Given the description of an element on the screen output the (x, y) to click on. 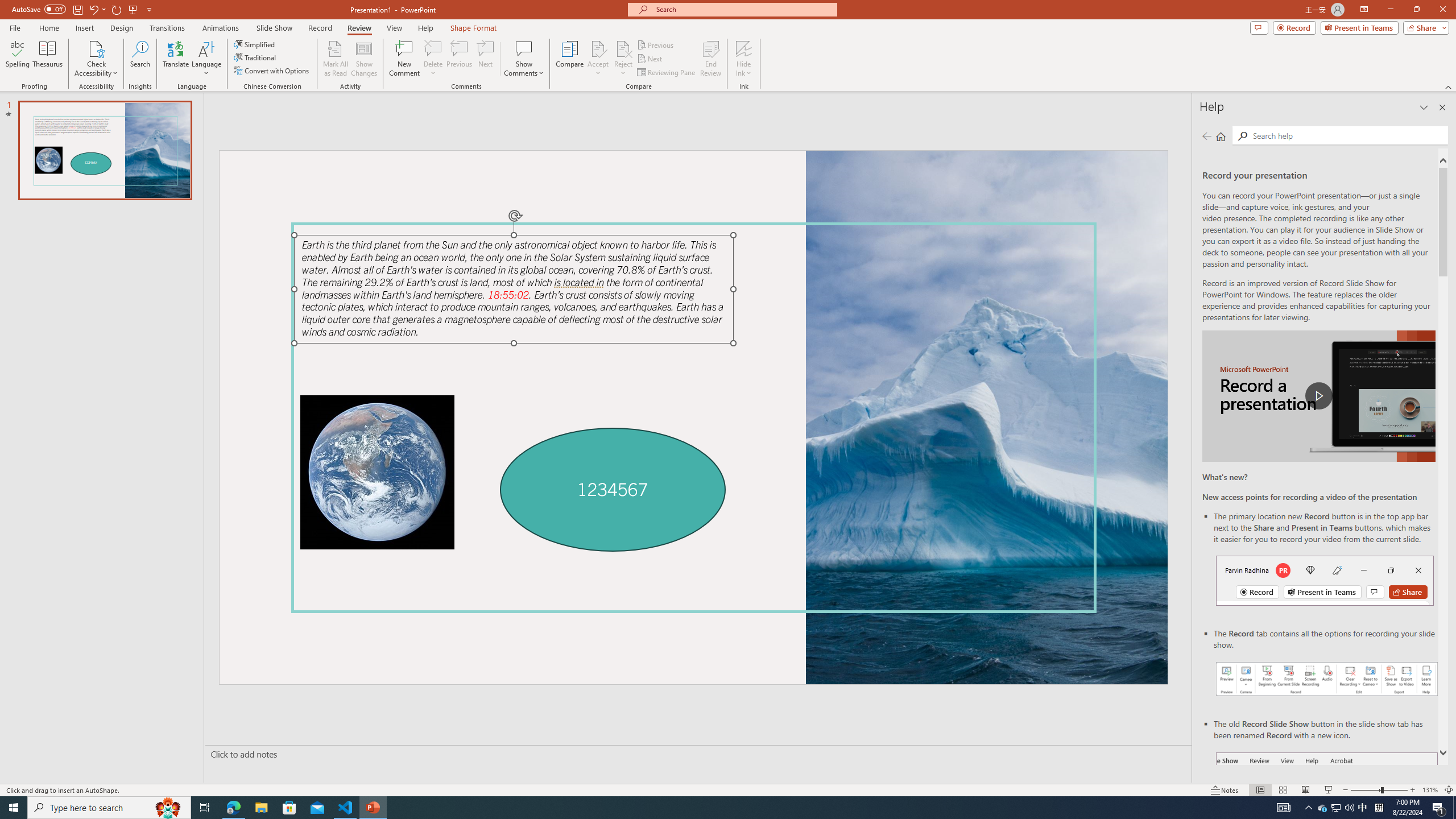
Compare (569, 58)
Record your presentations screenshot one (1326, 678)
Simplified (254, 44)
